Given the description of an element on the screen output the (x, y) to click on. 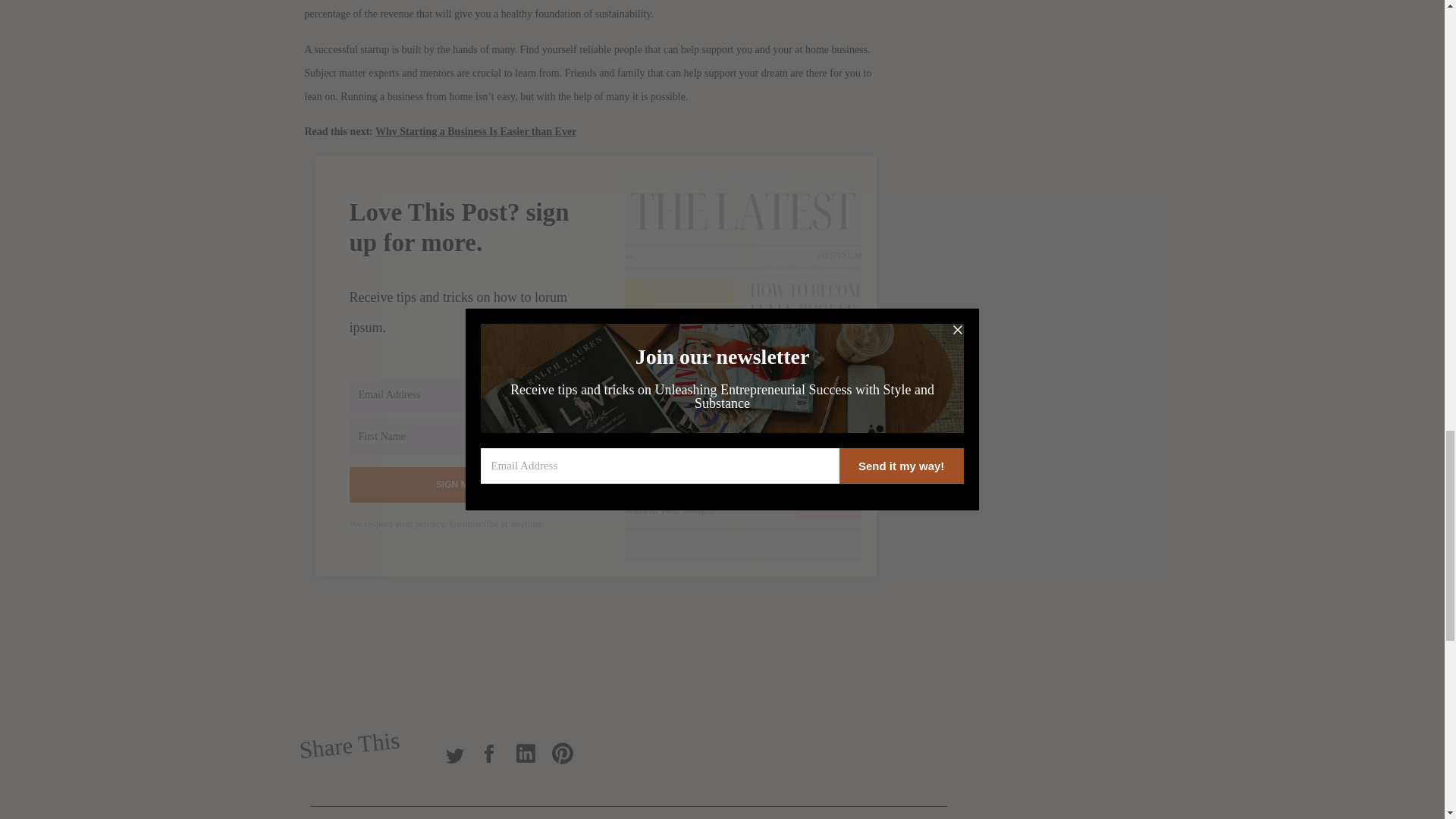
Why Starting a Business Is Easier than Ever (475, 131)
SIGN ME UP! (463, 484)
